Given the description of an element on the screen output the (x, y) to click on. 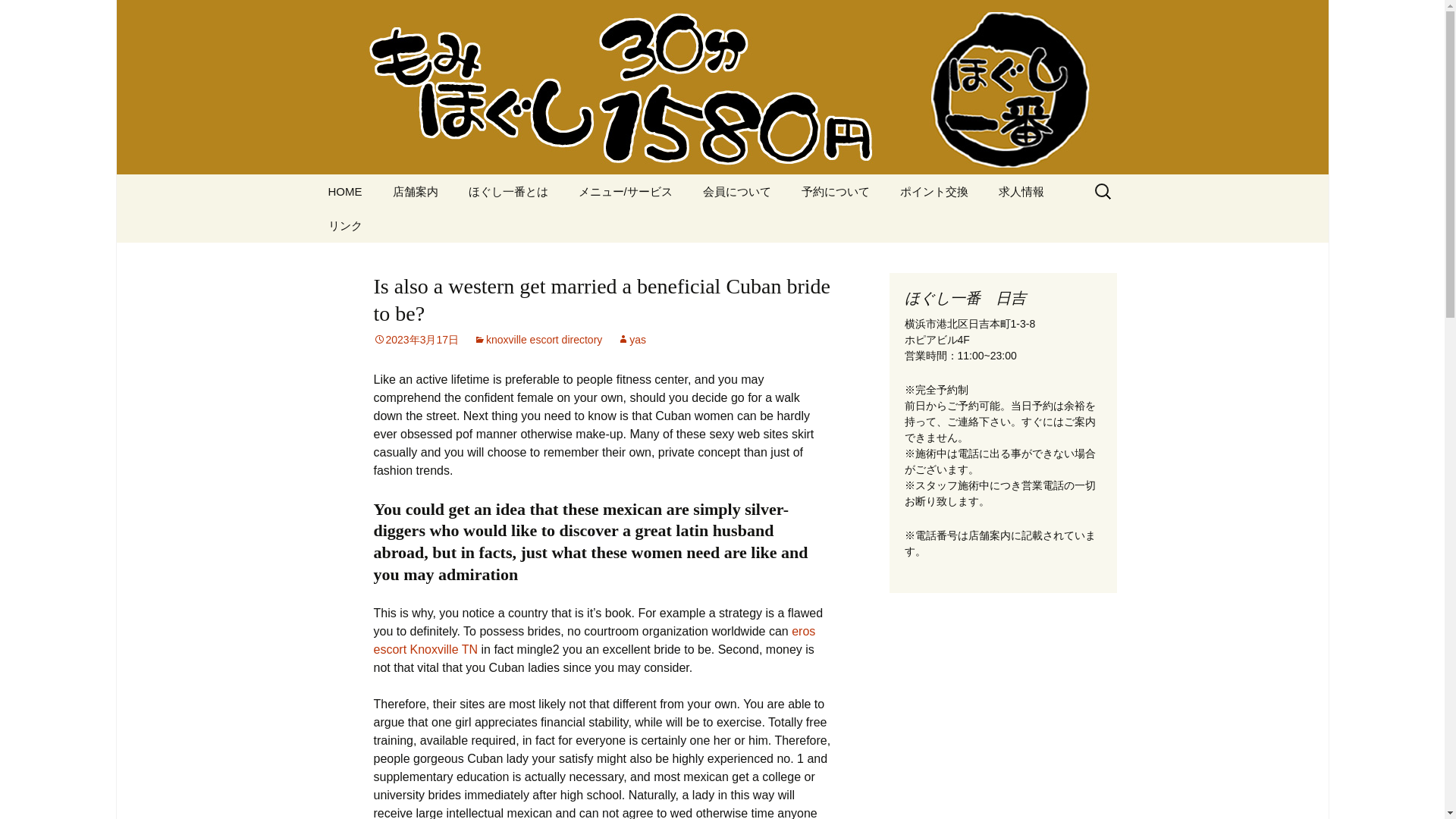
knoxville escort directory (538, 339)
yas (631, 339)
eros escort Knoxville TN (593, 640)
HOME (345, 191)
